Given the description of an element on the screen output the (x, y) to click on. 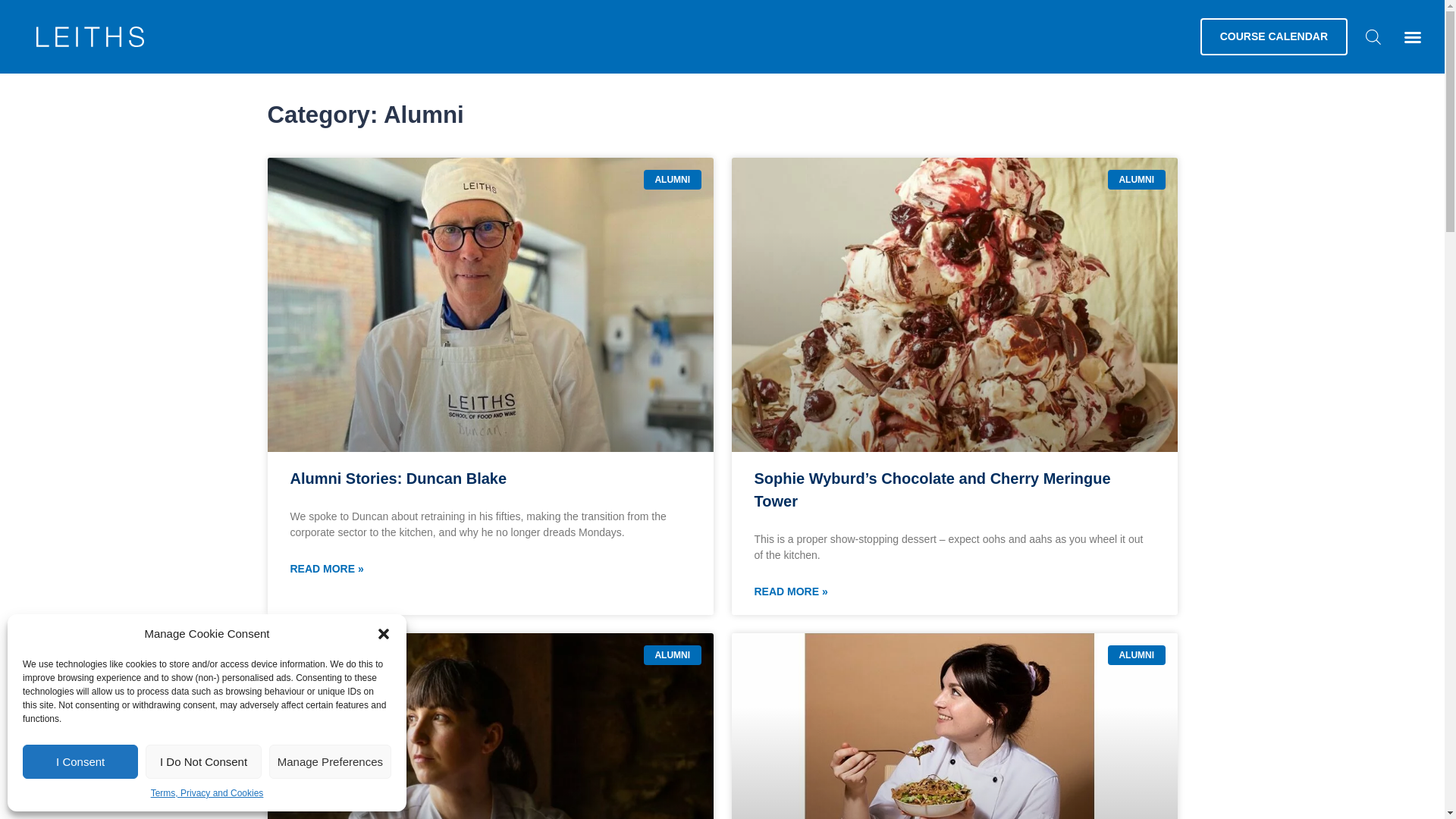
Terms, Privacy and Cookies (207, 793)
COURSE CALENDAR (1273, 36)
I Do Not Consent (202, 761)
Manage Preferences (330, 761)
I Consent (80, 761)
